Given the description of an element on the screen output the (x, y) to click on. 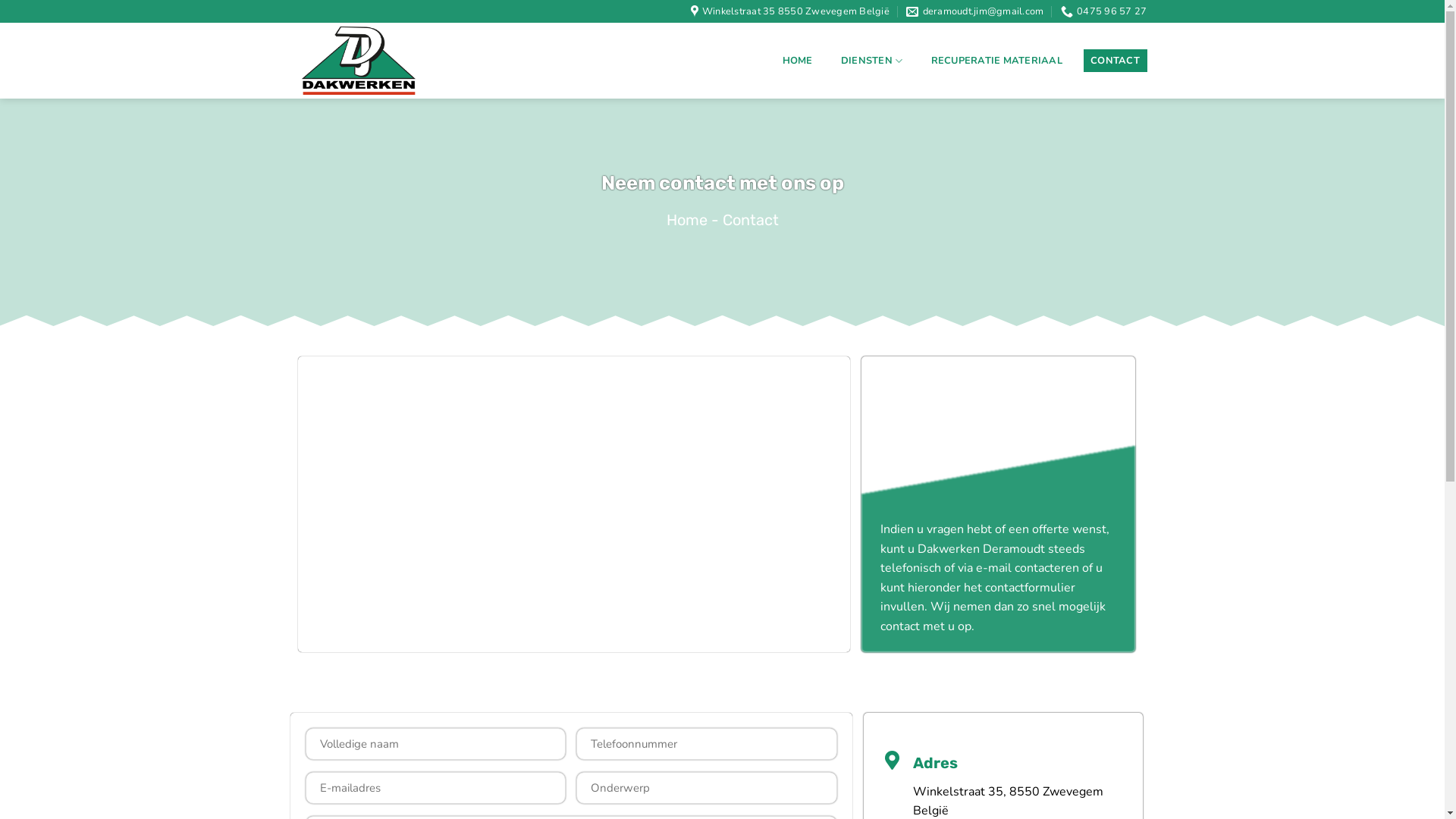
CONTACT Element type: text (1115, 60)
RECUPERATIE MATERIAAL Element type: text (996, 60)
0475 96 57 27 Element type: text (1103, 11)
deramoudt.jim@gmail.com Element type: text (974, 11)
DIENSTEN Element type: text (871, 60)
HOME Element type: text (797, 60)
Home Element type: text (685, 219)
